Given the description of an element on the screen output the (x, y) to click on. 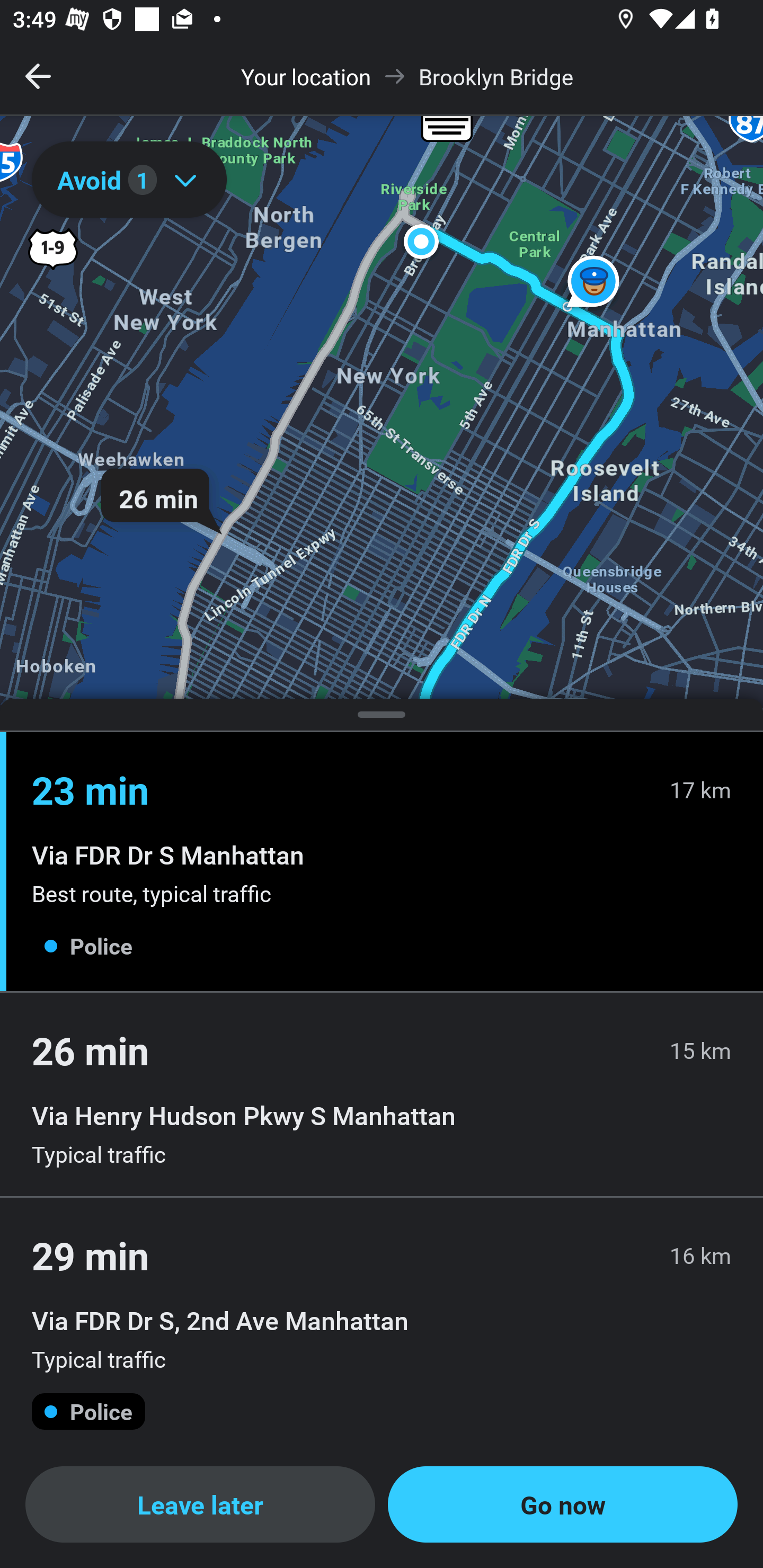
Leave later (200, 1504)
Go now (562, 1504)
